Given the description of an element on the screen output the (x, y) to click on. 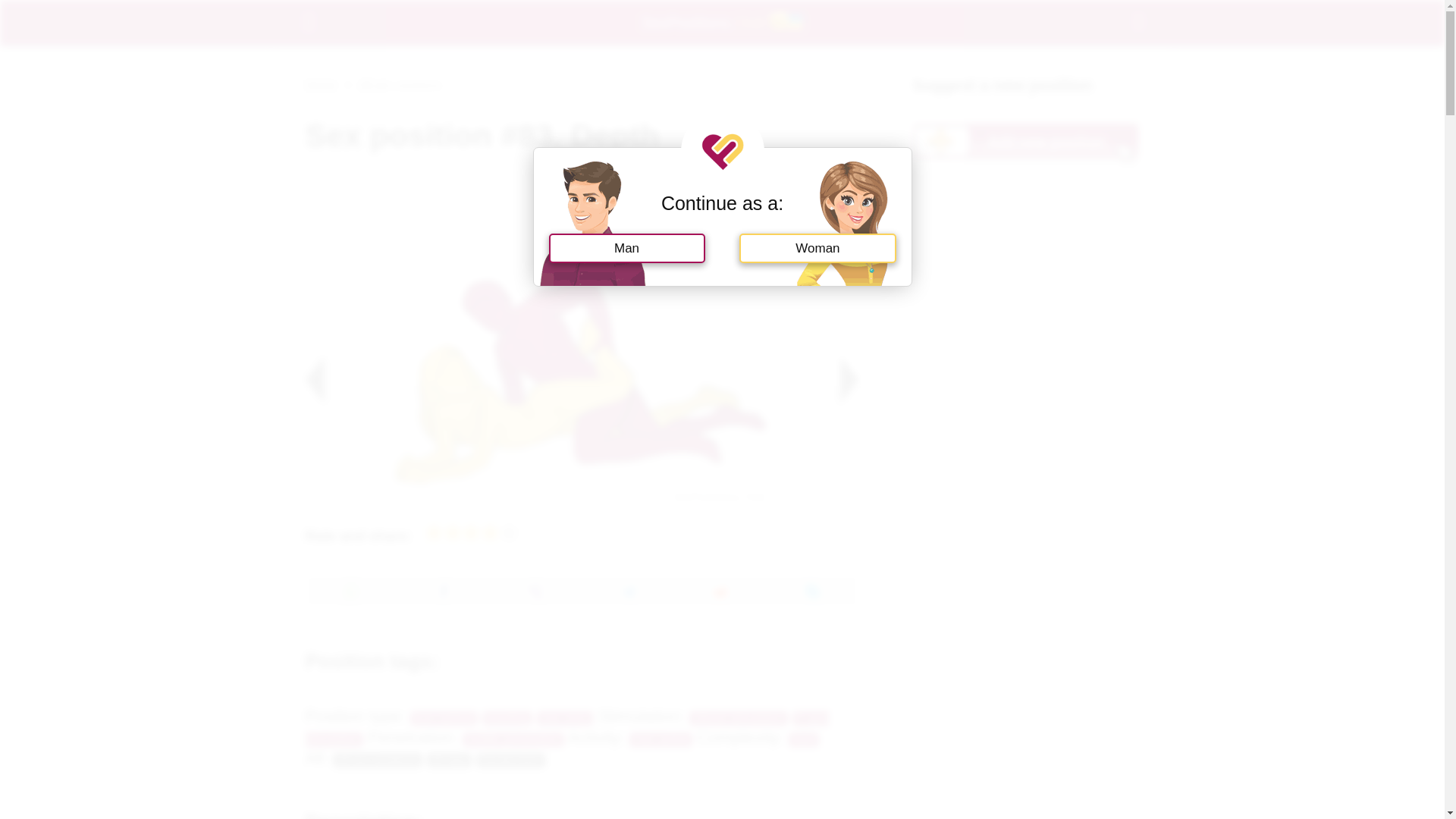
kneeling (506, 718)
Randomizer (510, 759)
P-spot stimulation (566, 728)
All sex positions (377, 759)
clitoral stimulation (737, 718)
All tags (448, 759)
man active (660, 739)
from behind (443, 718)
Home (320, 83)
All sex positions (400, 83)
rear entry (564, 718)
middle penetration (513, 739)
hard (803, 739)
